Given the description of an element on the screen output the (x, y) to click on. 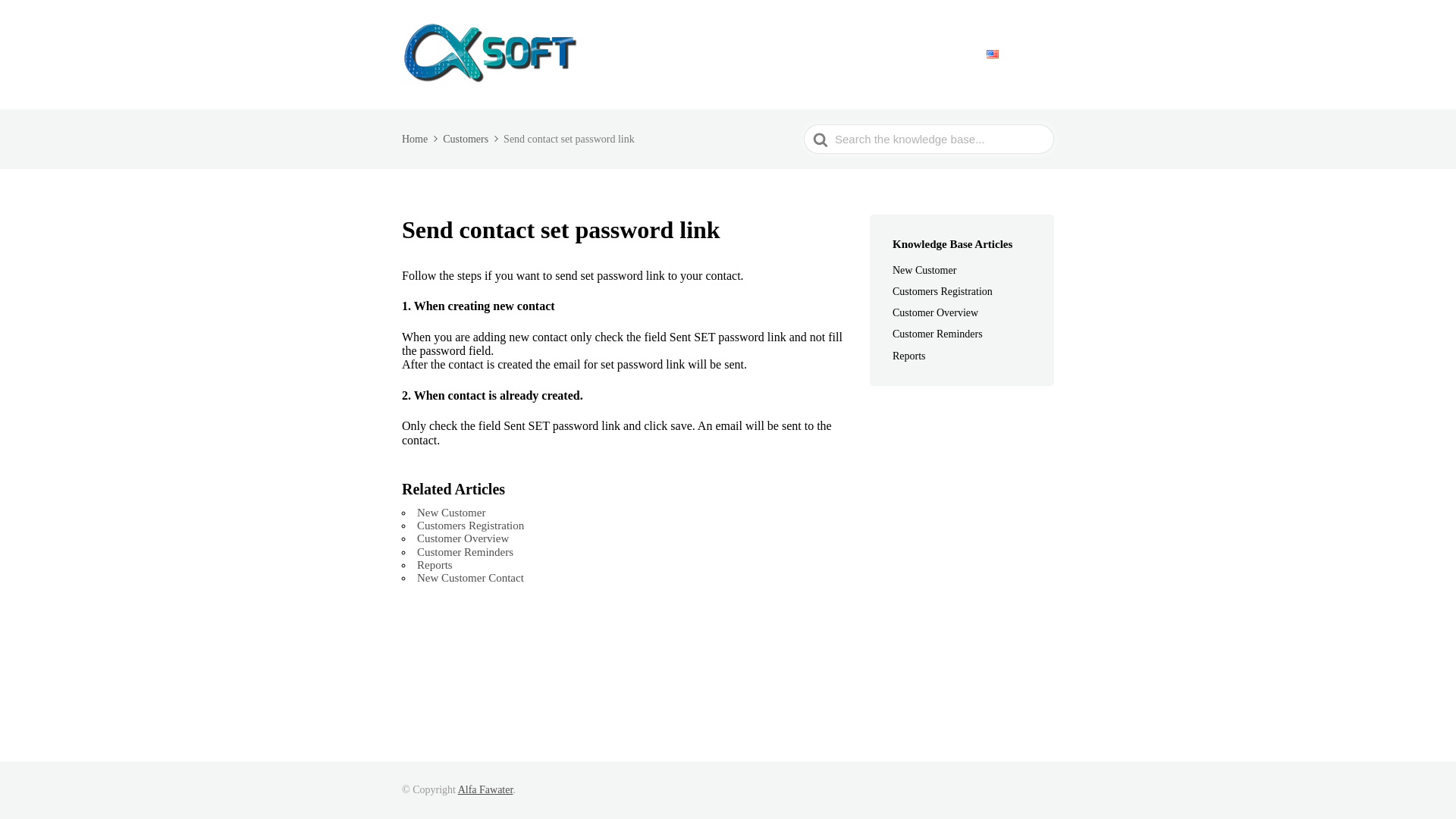
Reports (434, 564)
New Customer (933, 270)
New Customer Contact (470, 577)
Customers (471, 138)
Customer Overview (462, 538)
Alfa Fawater (485, 789)
Customer Overview (944, 312)
New Customer (450, 512)
English (1016, 54)
Reports (918, 355)
